Given the description of an element on the screen output the (x, y) to click on. 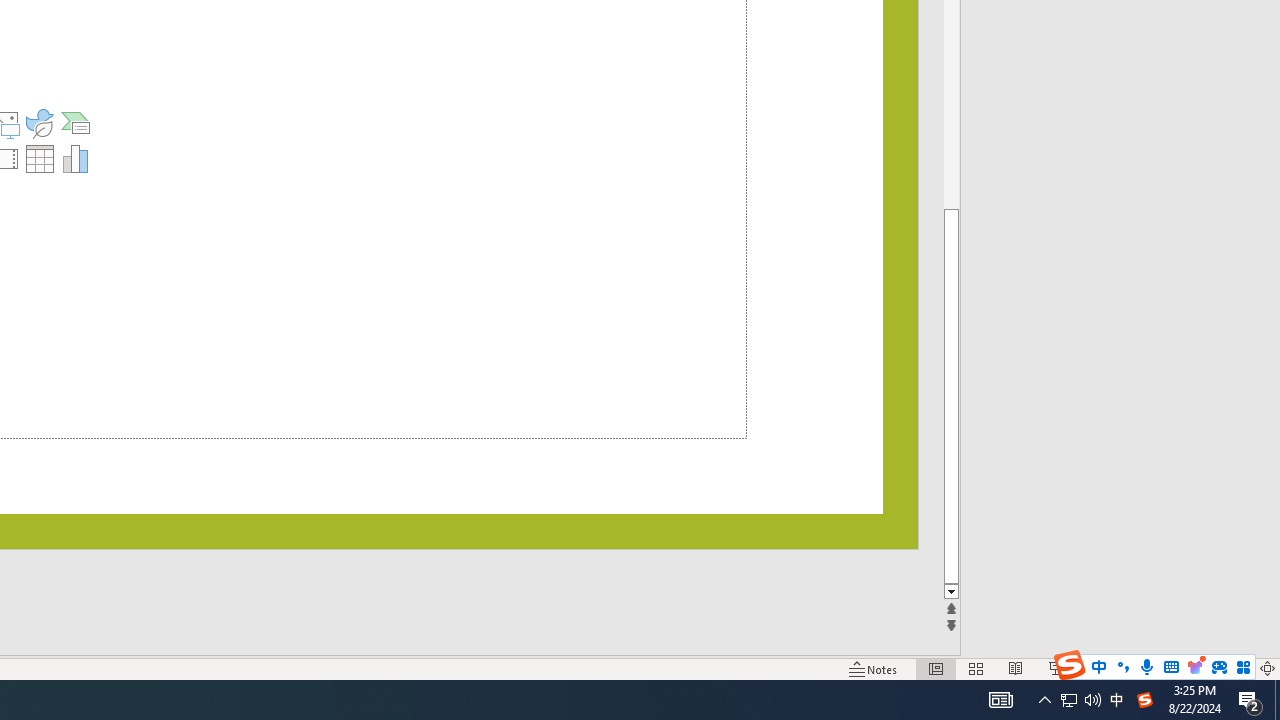
Zoom 140% (1234, 668)
